Given the description of an element on the screen output the (x, y) to click on. 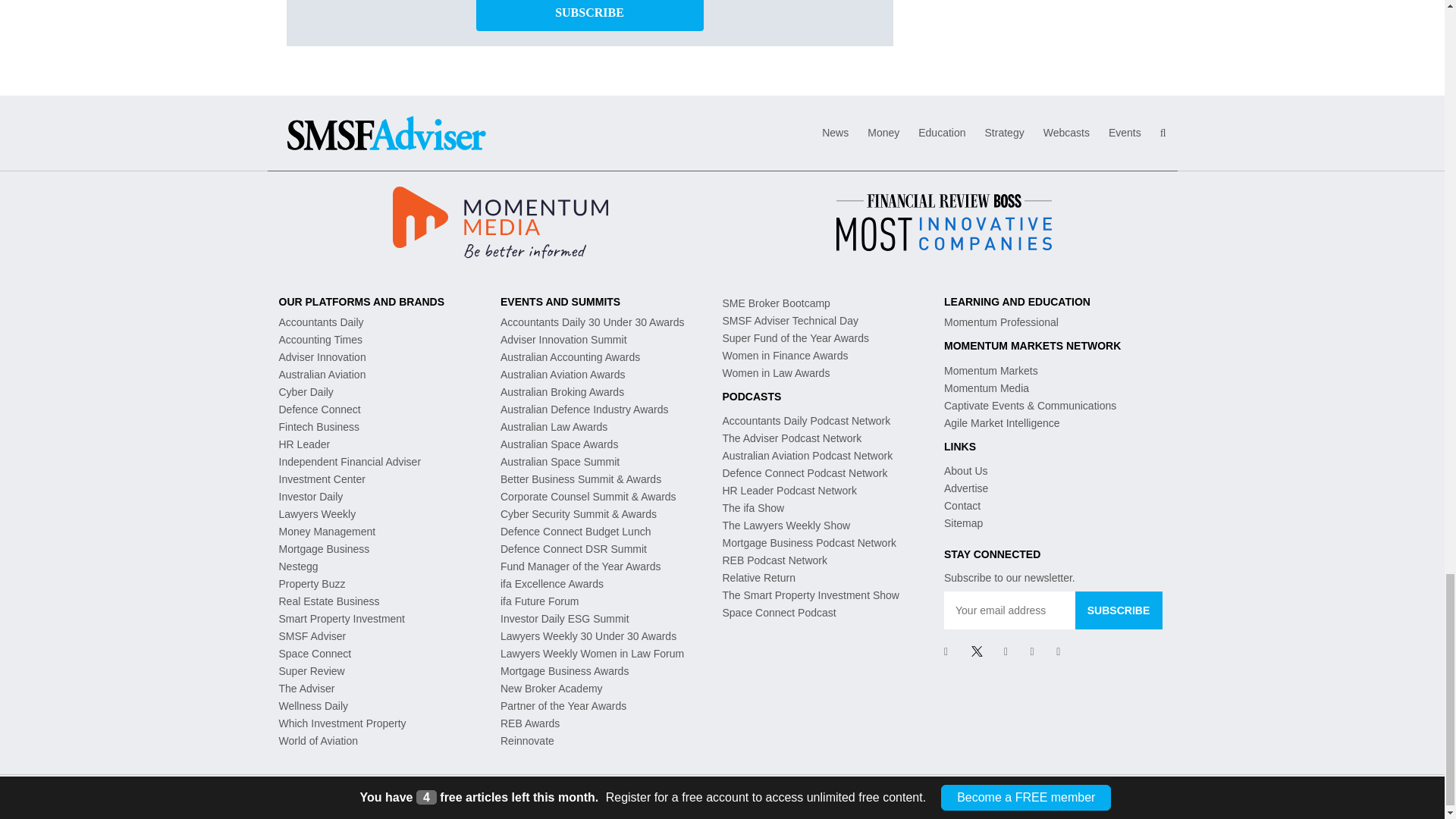
SUBSCRIBE (1118, 610)
